Given the description of an element on the screen output the (x, y) to click on. 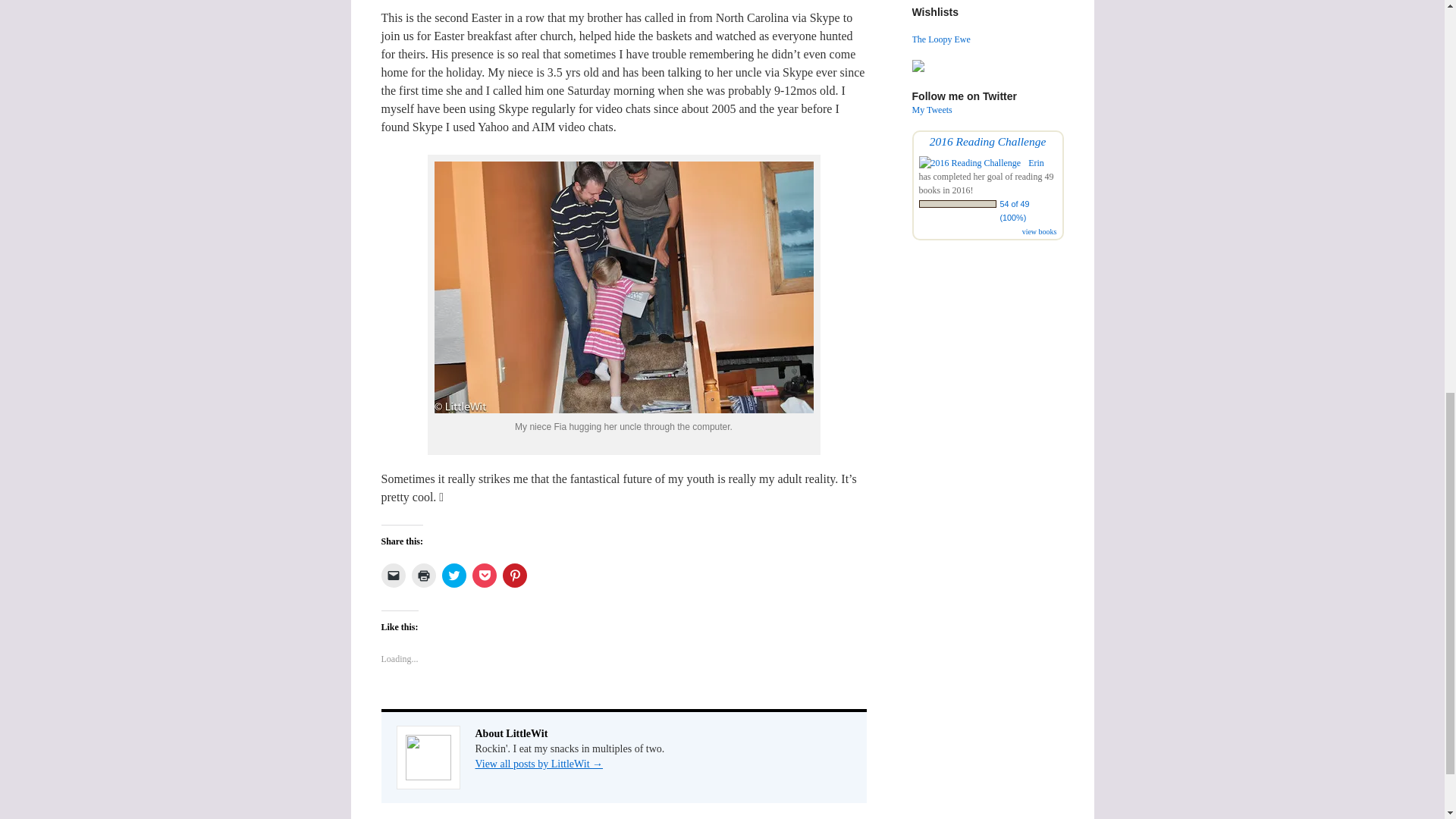
Click to email a link to a friend (392, 575)
Easter 2012 by littlewit, on Flickr (623, 408)
Erin (1035, 163)
Click to share on Pocket (483, 575)
Click to share on Twitter (453, 575)
view books (1039, 231)
2016 Reading Challenge (988, 141)
My Tweets (931, 109)
Click to print (422, 575)
Click to share on Pinterest (513, 575)
The Loopy Ewe (940, 39)
